Given the description of an element on the screen output the (x, y) to click on. 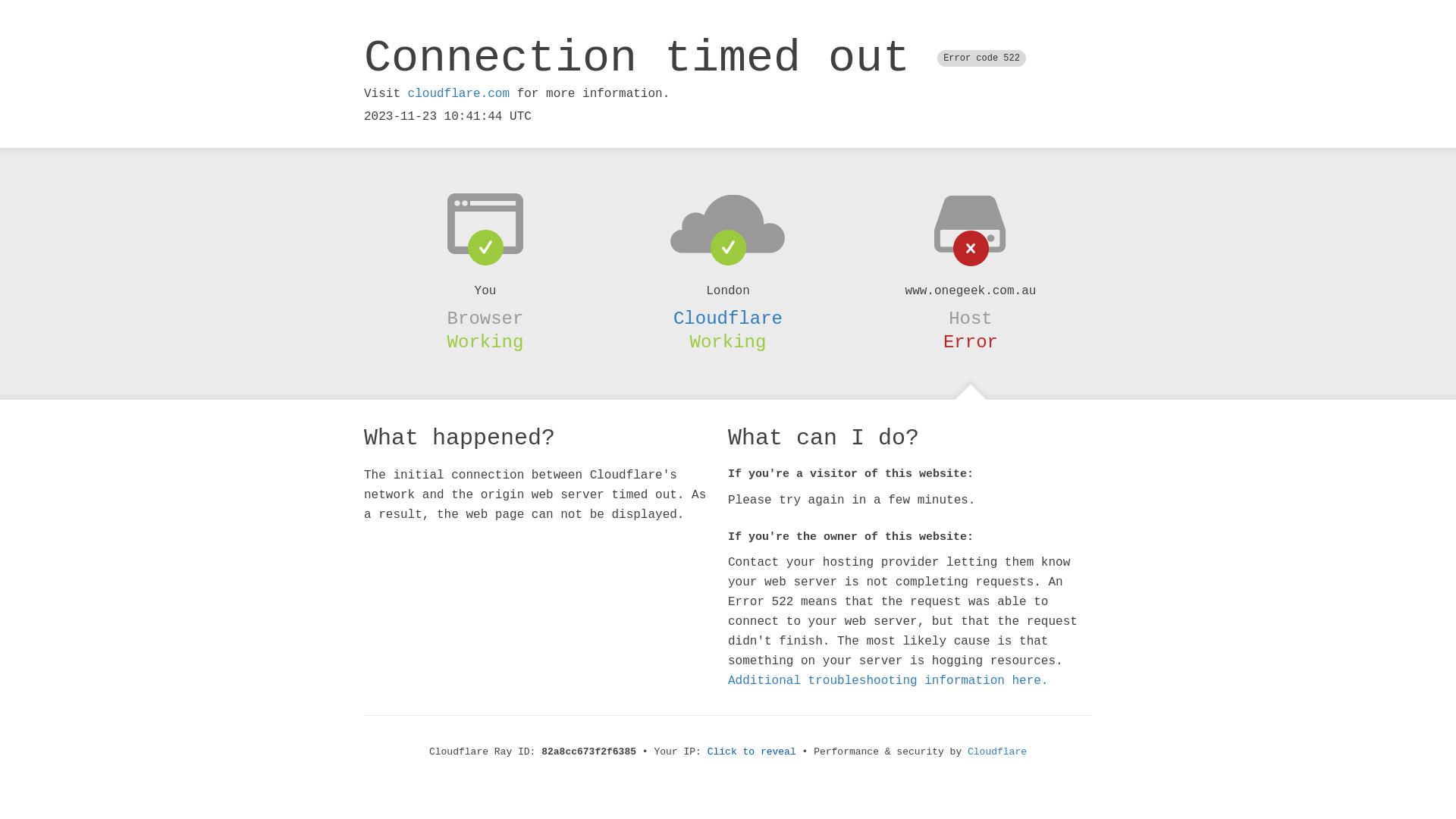
Click to reveal Element type: text (751, 751)
Cloudflare Element type: text (727, 318)
Additional troubleshooting information here. Element type: text (888, 680)
Cloudflare Element type: text (996, 751)
cloudflare.com Element type: text (458, 93)
